Given the description of an element on the screen output the (x, y) to click on. 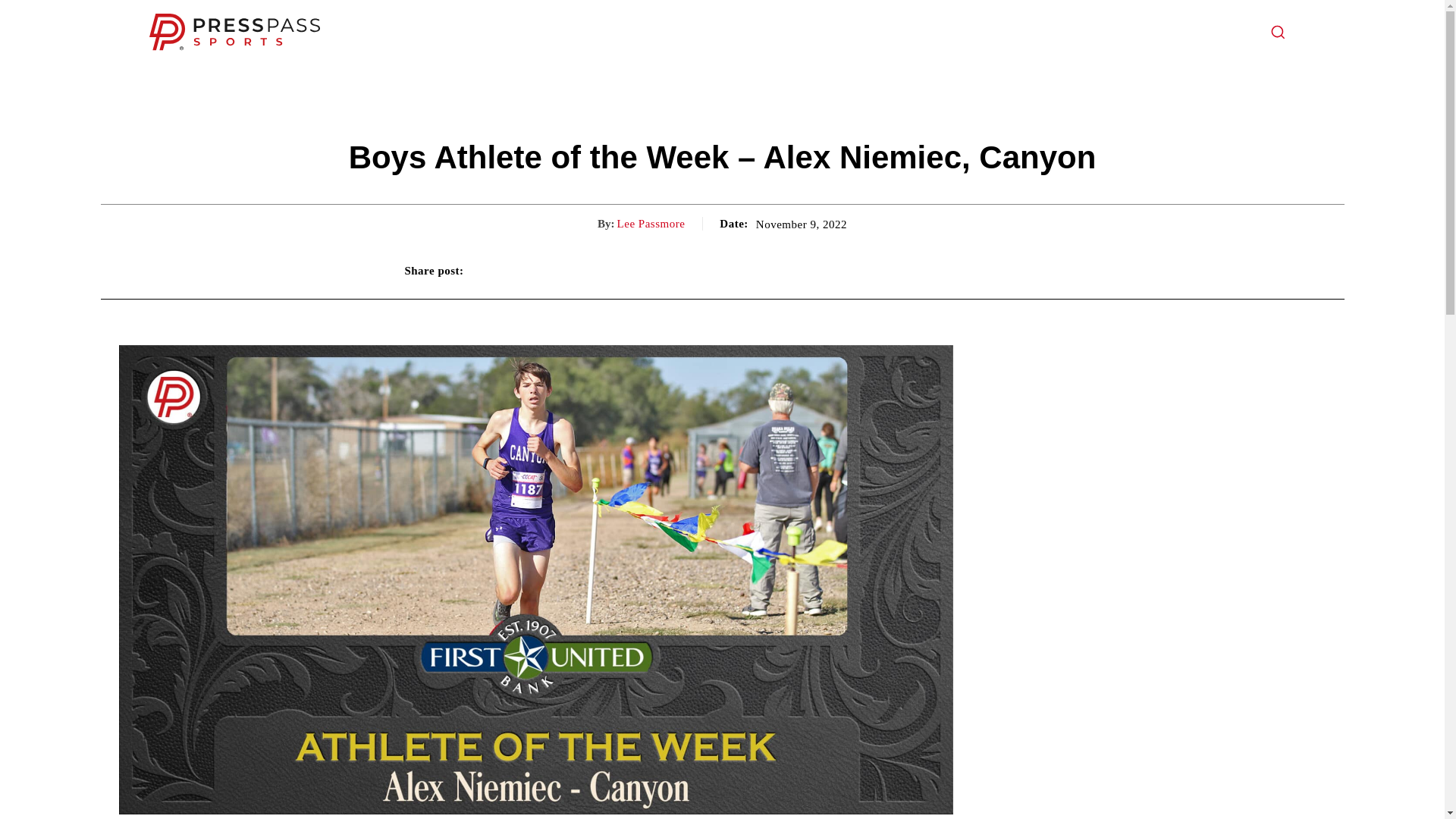
Lee Passmore (651, 223)
